Given the description of an element on the screen output the (x, y) to click on. 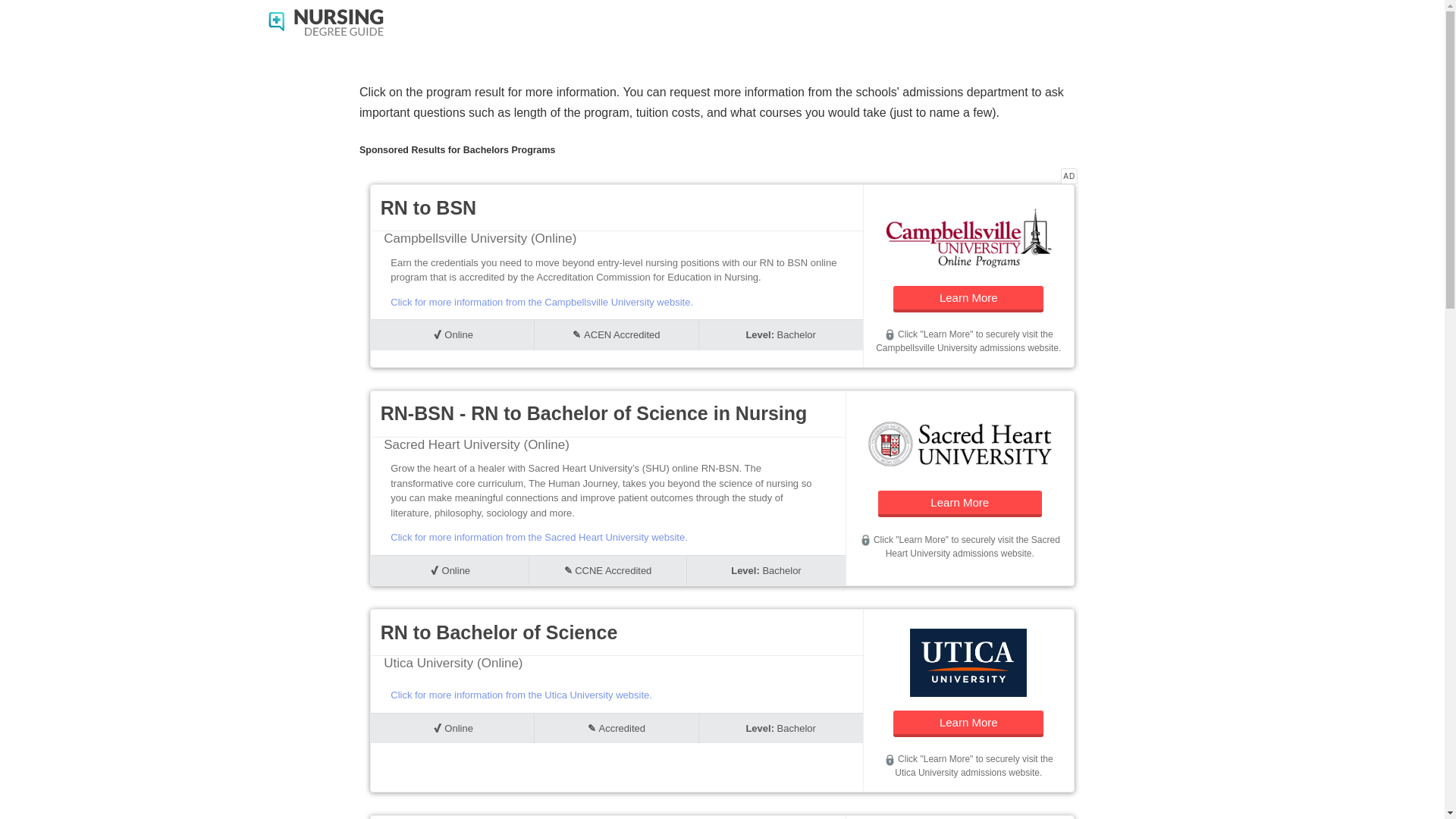
Learn More (959, 503)
Visit the Utica University admissions website securely. (889, 759)
Nursing Degree Guide (325, 21)
Learn More (968, 298)
Learn More (968, 723)
